Given the description of an element on the screen output the (x, y) to click on. 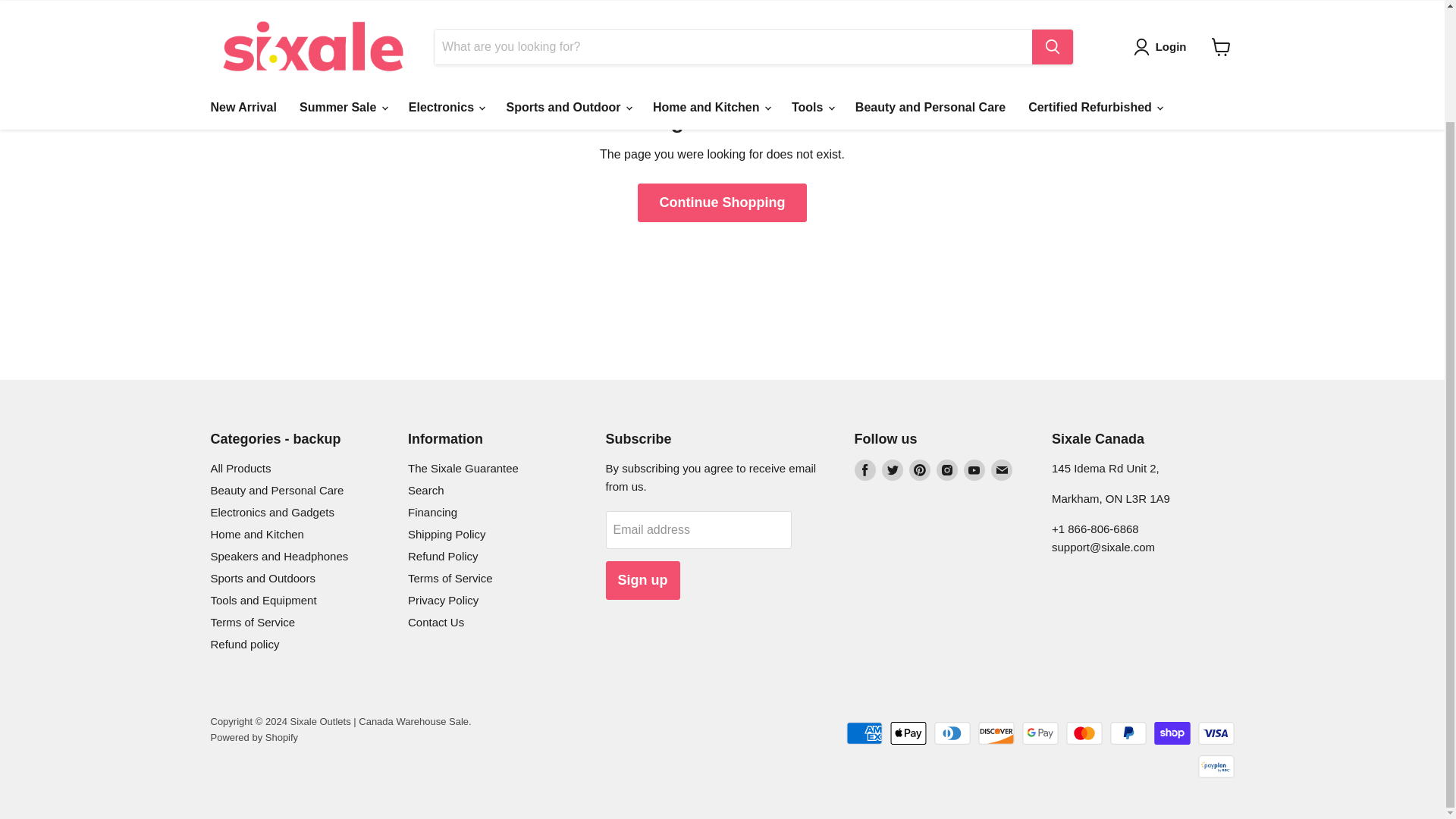
New Arrival (242, 13)
Instagram (946, 469)
American Express (863, 732)
Youtube (973, 469)
Twitter (891, 469)
Email (1000, 469)
Pinterest (919, 469)
Discover (996, 732)
Diners Club (952, 732)
Apple Pay (907, 732)
